Given the description of an element on the screen output the (x, y) to click on. 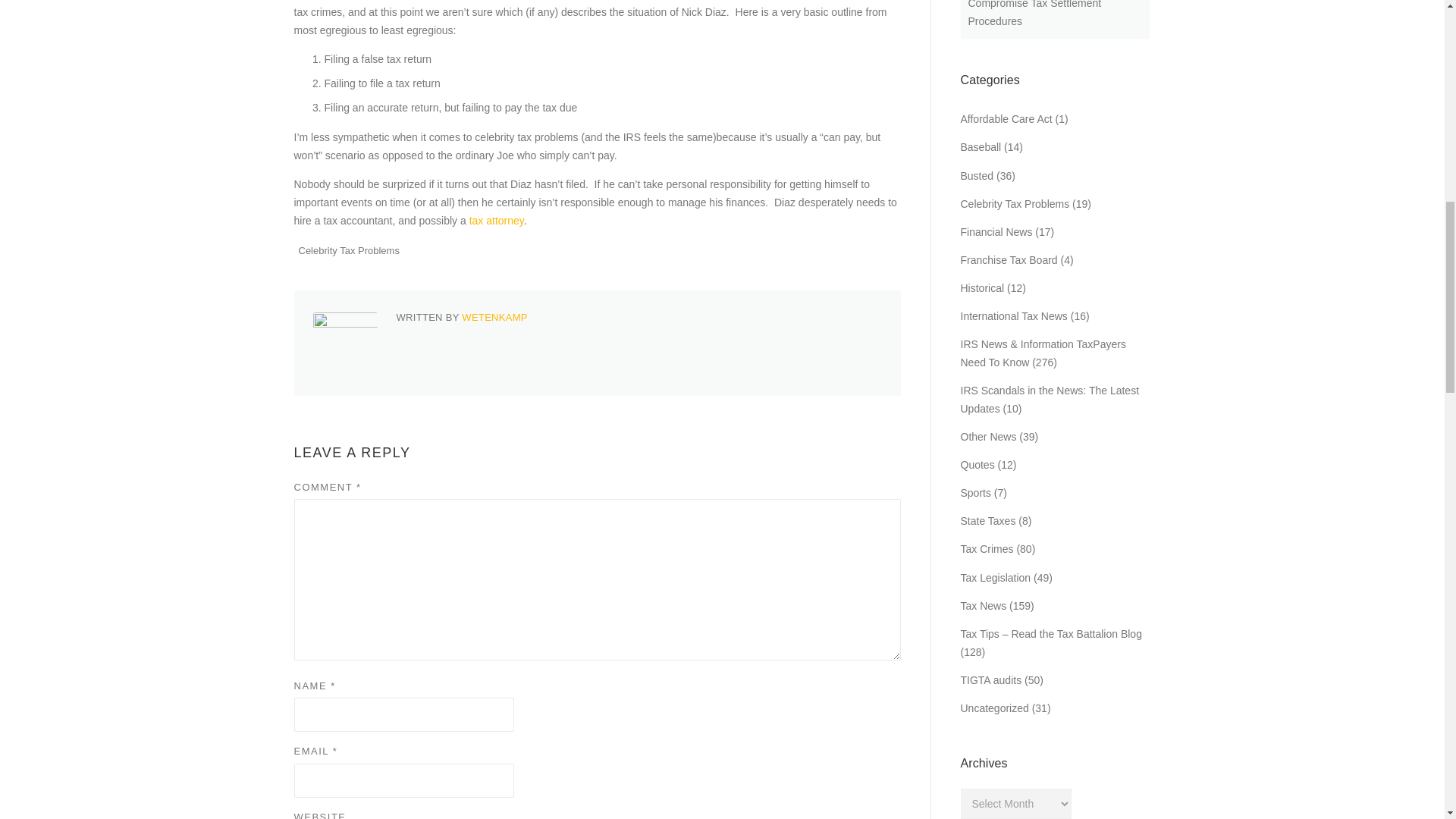
Changes to IRS Offer in Compromise Tax Settlement Procedures (1034, 13)
